Given the description of an element on the screen output the (x, y) to click on. 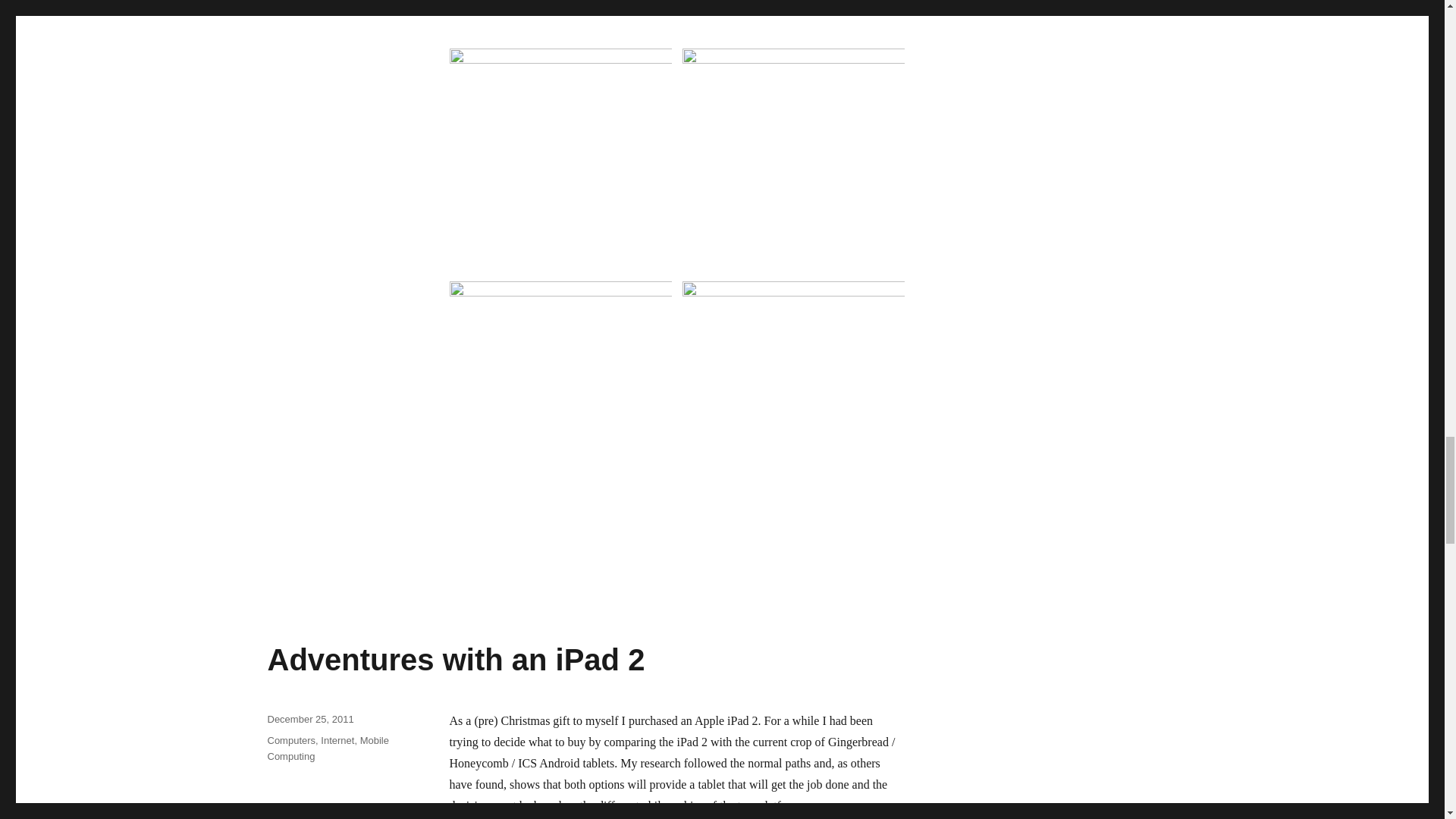
Internet (336, 740)
December 25, 2011 (309, 718)
Computers (290, 740)
Adventures with an iPad 2 (455, 659)
Mobile Computing (327, 748)
